Given the description of an element on the screen output the (x, y) to click on. 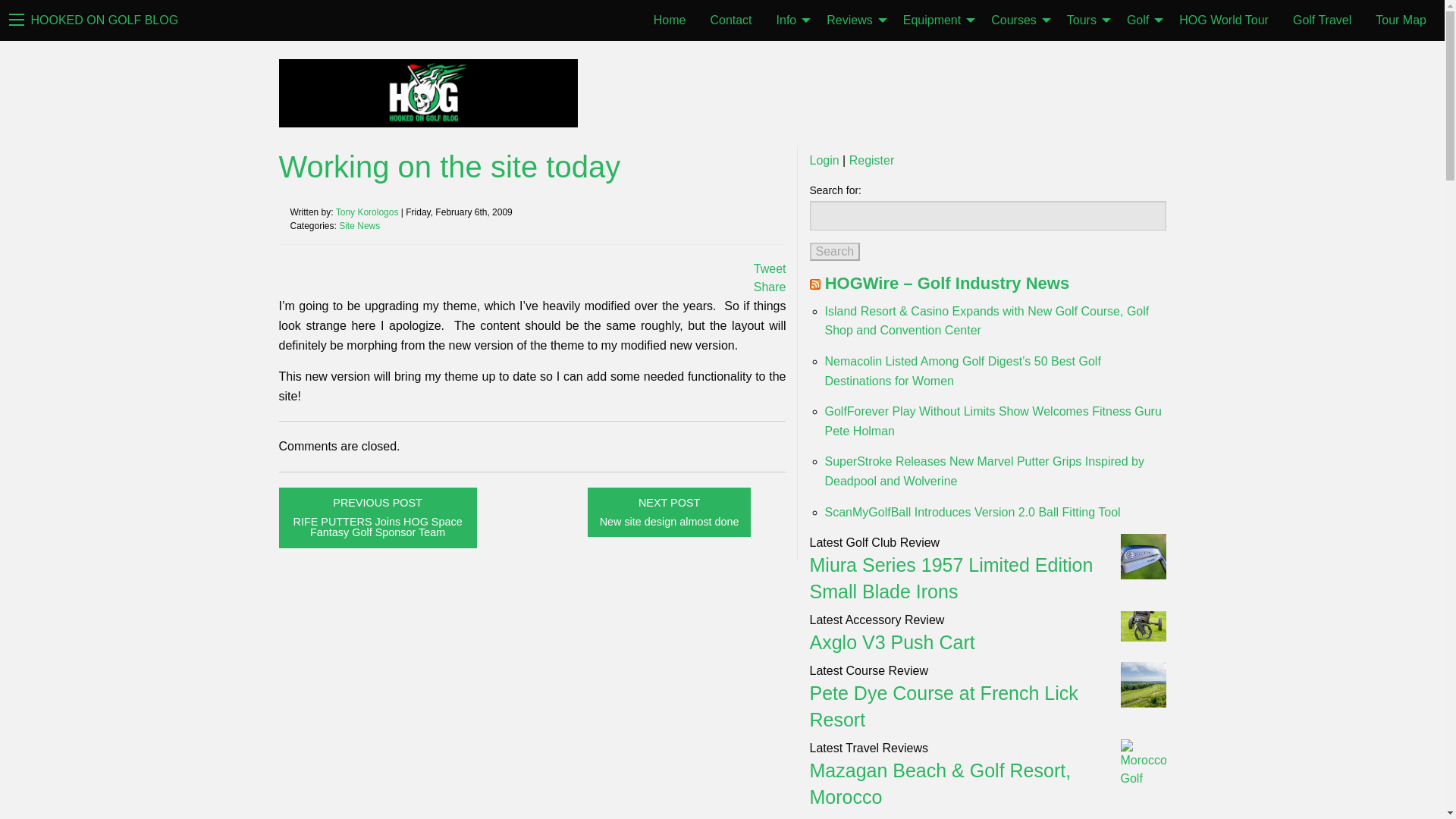
Pete Dye Course at French Lick Resort Review (943, 706)
Search (834, 251)
Golf Accessories blog (892, 641)
Miura Series 1957 Limited Edition Small Blade Irons (951, 577)
Golf Blog Home Page (103, 20)
